Given the description of an element on the screen output the (x, y) to click on. 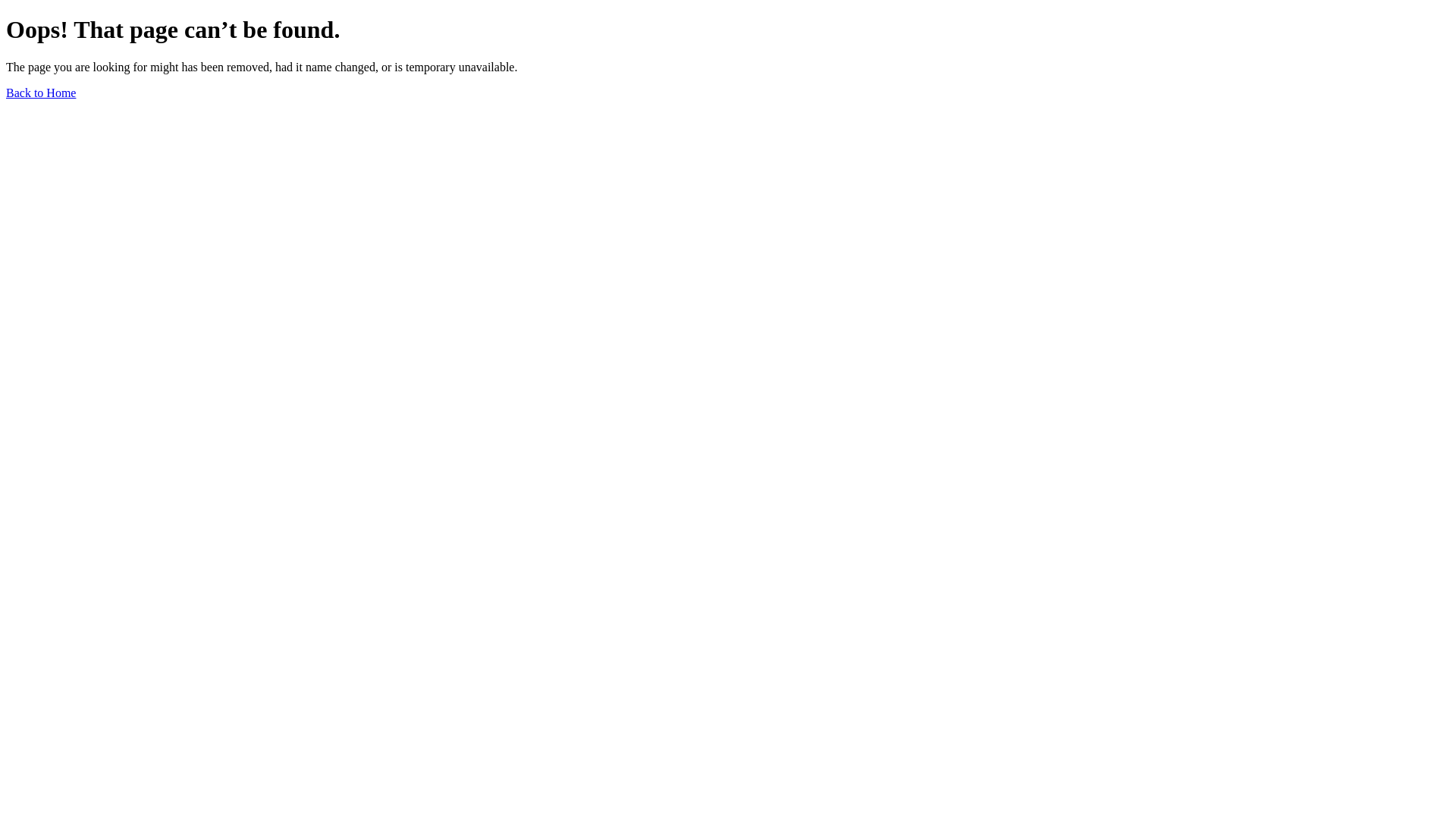
Back to Home Element type: text (40, 92)
